Given the description of an element on the screen output the (x, y) to click on. 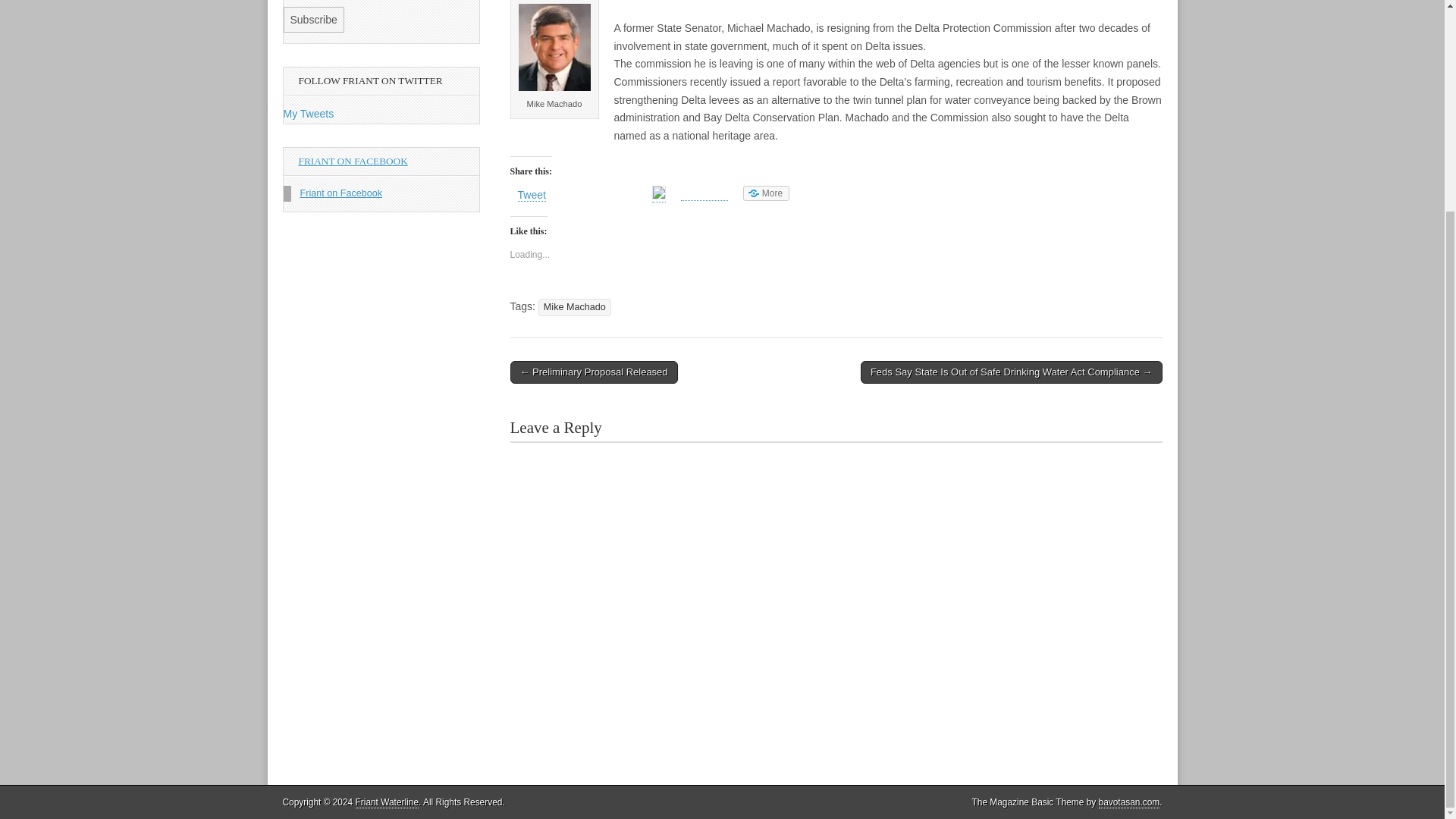
Friant on Facebook (340, 193)
Subscribe (313, 19)
bavotasan.com (1129, 802)
FRIANT ON FACEBOOK (352, 161)
Tweet (530, 195)
Subscribe (313, 19)
Friant Waterline (387, 802)
My Tweets (308, 113)
Share on Tumblr (704, 192)
Mike Machado (574, 307)
More (765, 192)
Share on Tumblr (704, 192)
